Given the description of an element on the screen output the (x, y) to click on. 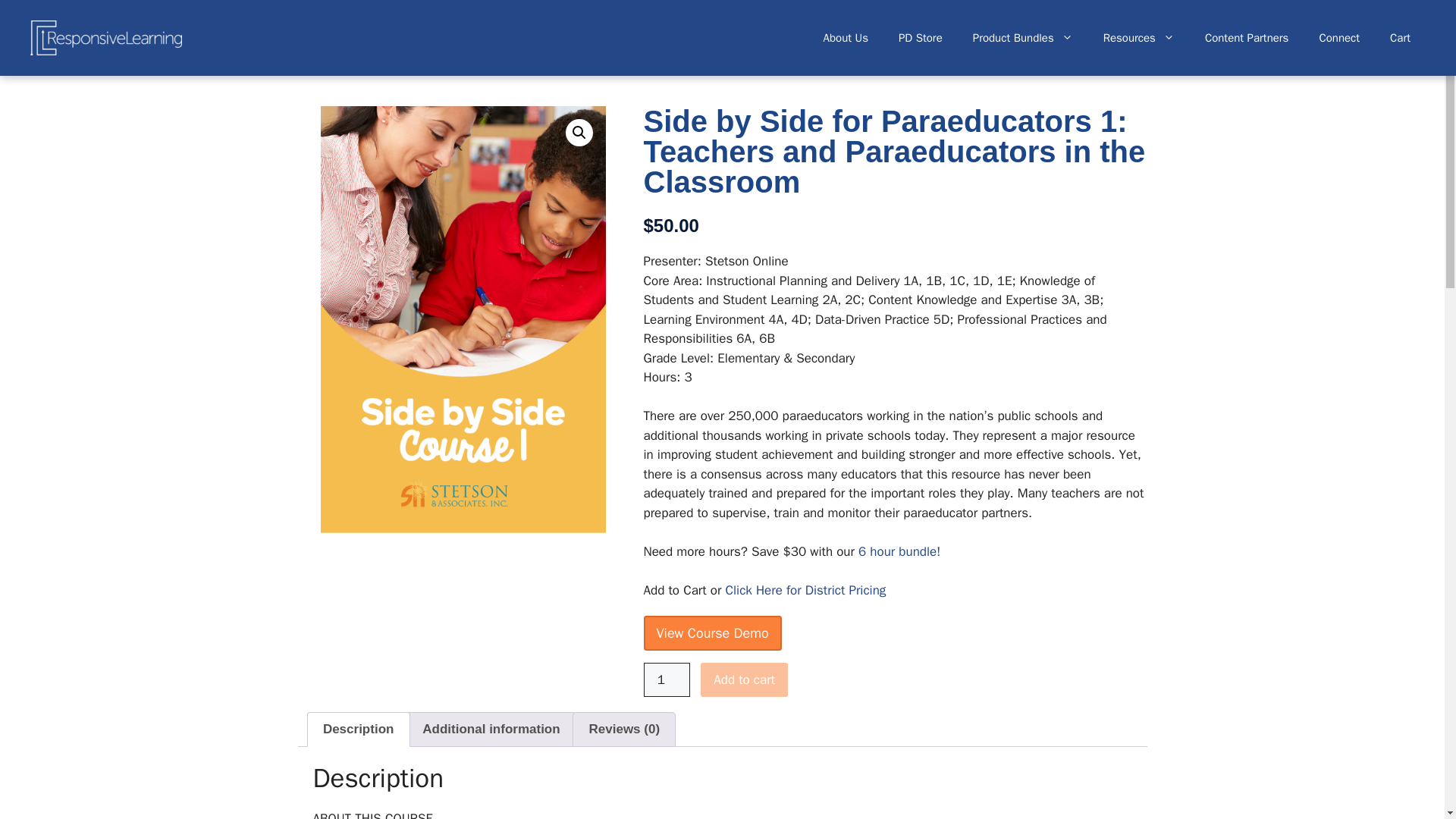
View Course Demo (711, 632)
Cart (1399, 37)
Product Bundles (1022, 37)
6 hour bundle! (899, 550)
Additional information (491, 729)
Content Partners (1246, 37)
Add to cart (743, 679)
Description (358, 729)
PD Store (920, 37)
Resources (1138, 37)
Connect (1338, 37)
About Us (845, 37)
Click Here for District Pricing (805, 590)
1 (666, 679)
